Given the description of an element on the screen output the (x, y) to click on. 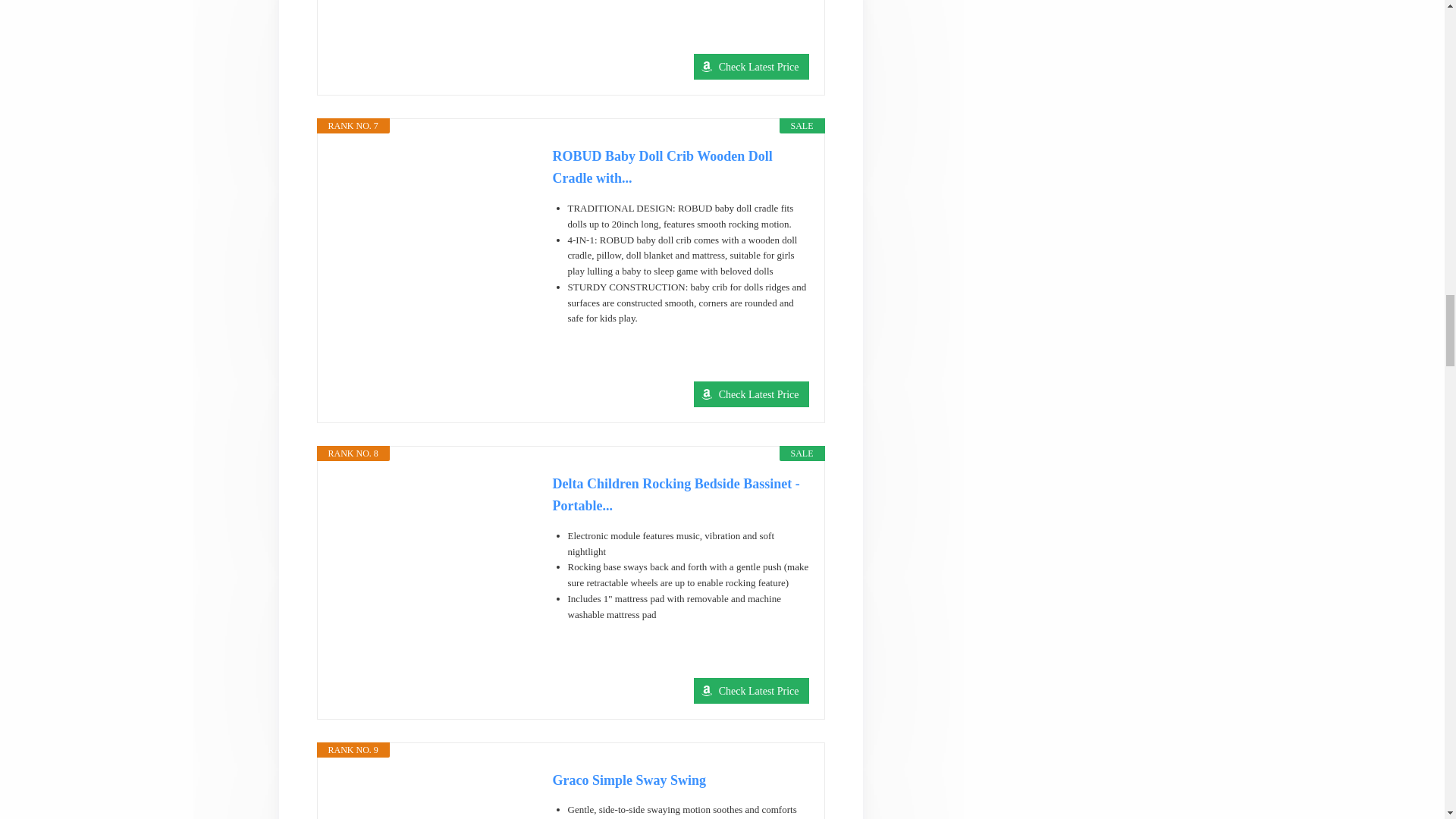
Check Latest Price (751, 66)
ROBUD Baby Doll Crib Wooden Doll Cradle with... (679, 167)
